Given the description of an element on the screen output the (x, y) to click on. 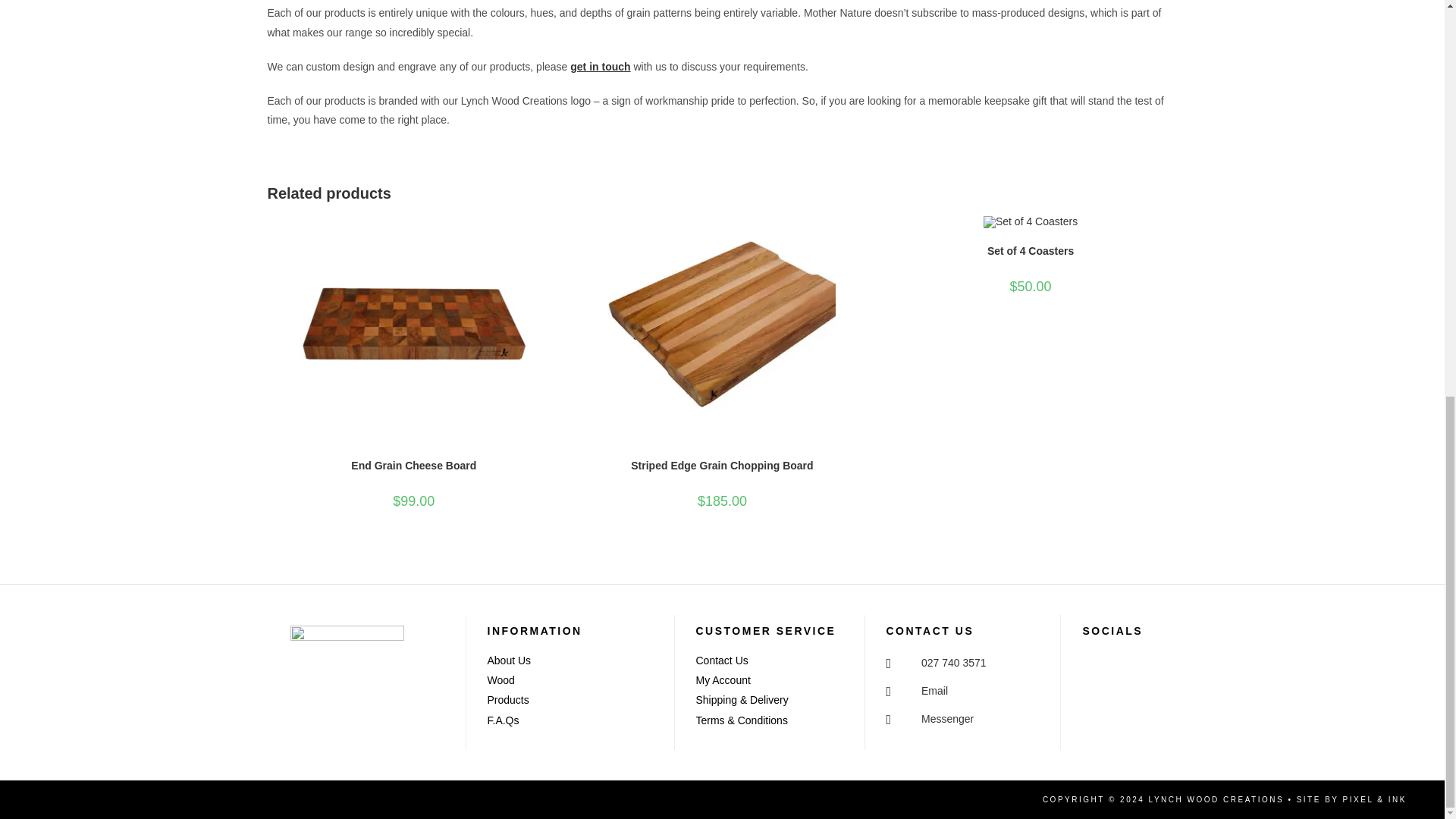
Striped Edge Grain Chopping Board (721, 465)
End Grain Cheese Board (413, 465)
get in touch (600, 66)
